Given the description of an element on the screen output the (x, y) to click on. 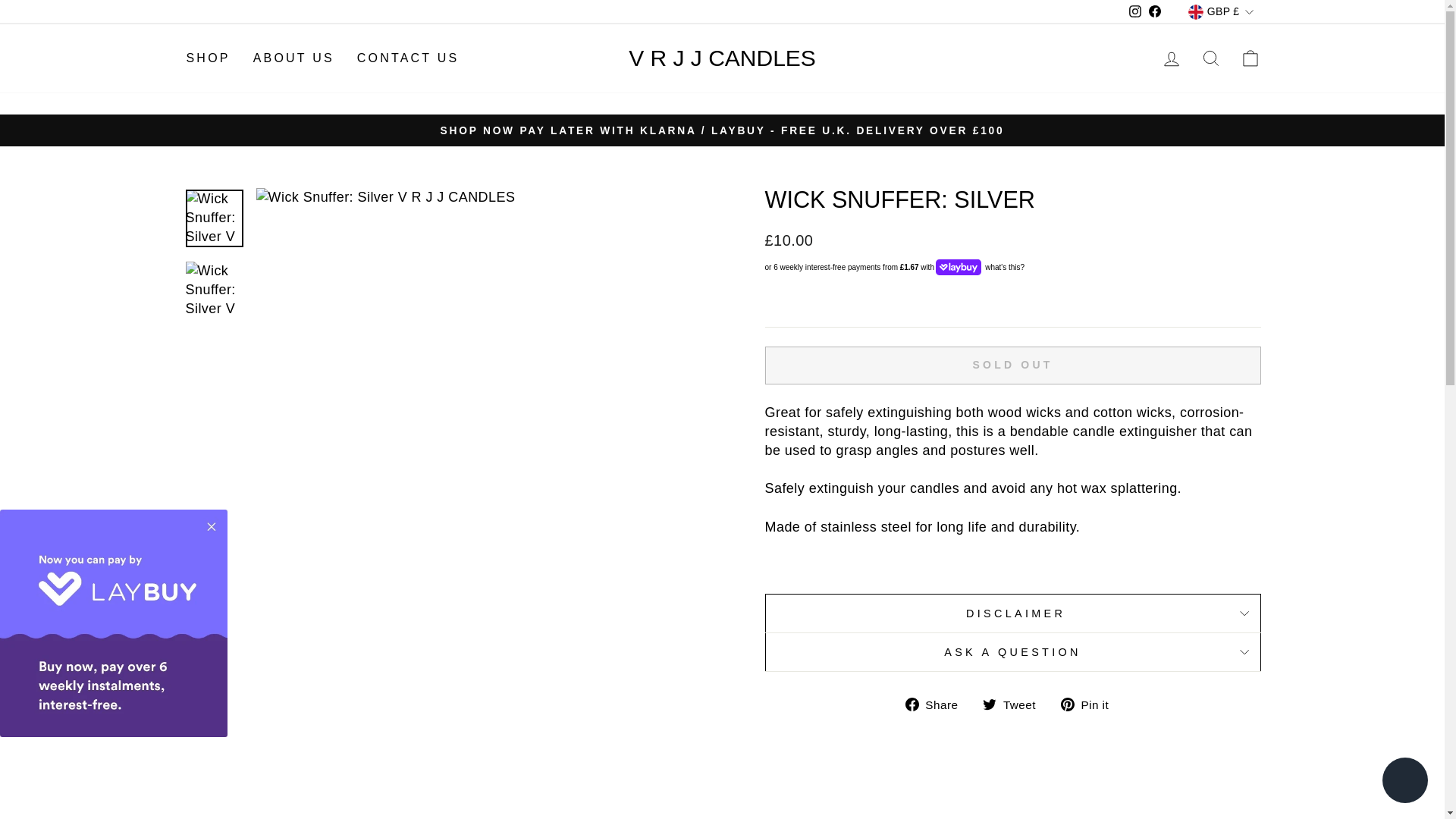
SHOP (207, 58)
Share on Facebook (937, 703)
Shopify online store chat (1404, 781)
Tweet on Twitter (1014, 703)
Pin on Pinterest (1090, 703)
